Given the description of an element on the screen output the (x, y) to click on. 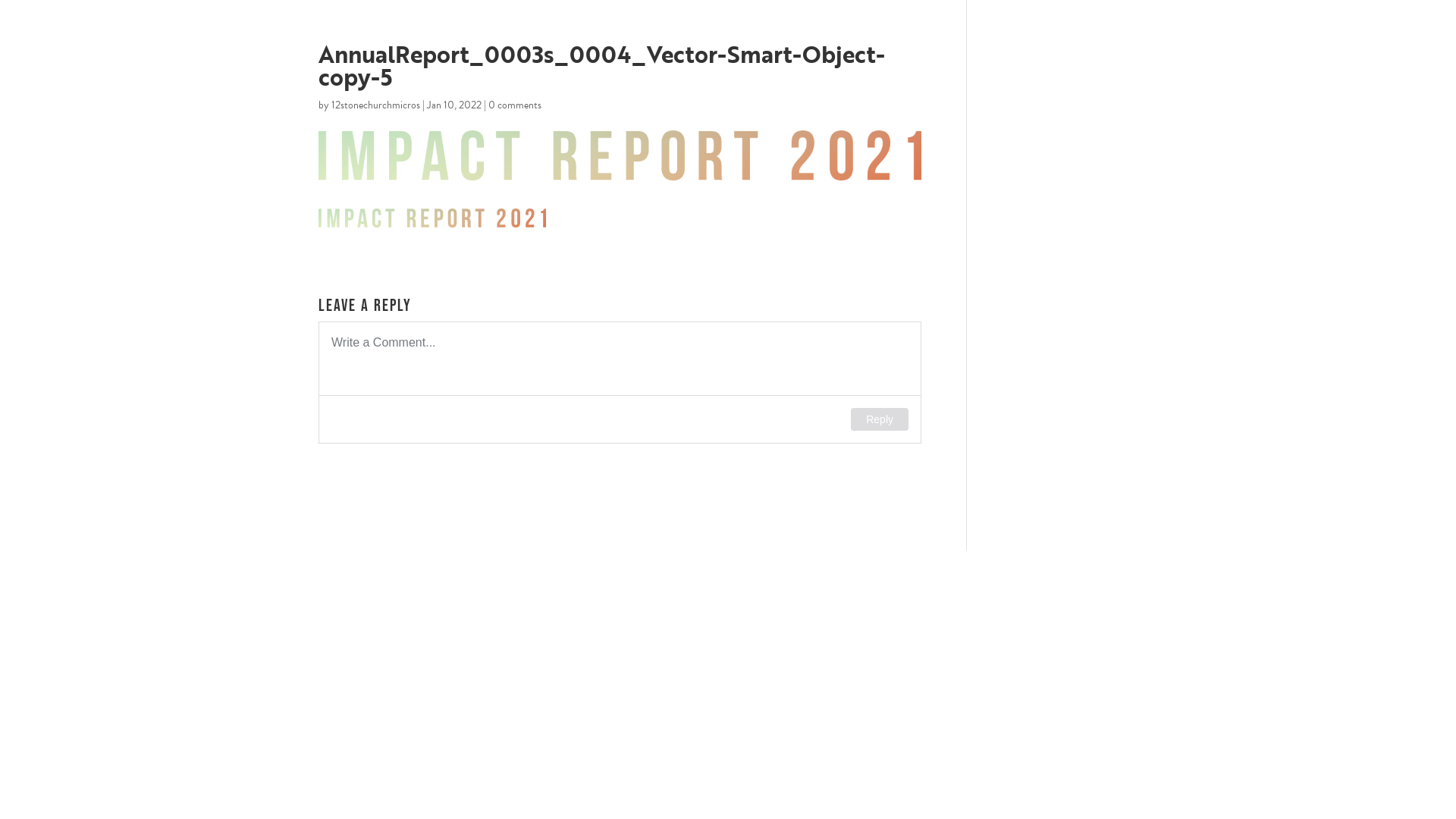
Comment Form Element type: hover (619, 382)
0 comments Element type: text (514, 104)
12stonechurchmicros Element type: text (375, 104)
